Given the description of an element on the screen output the (x, y) to click on. 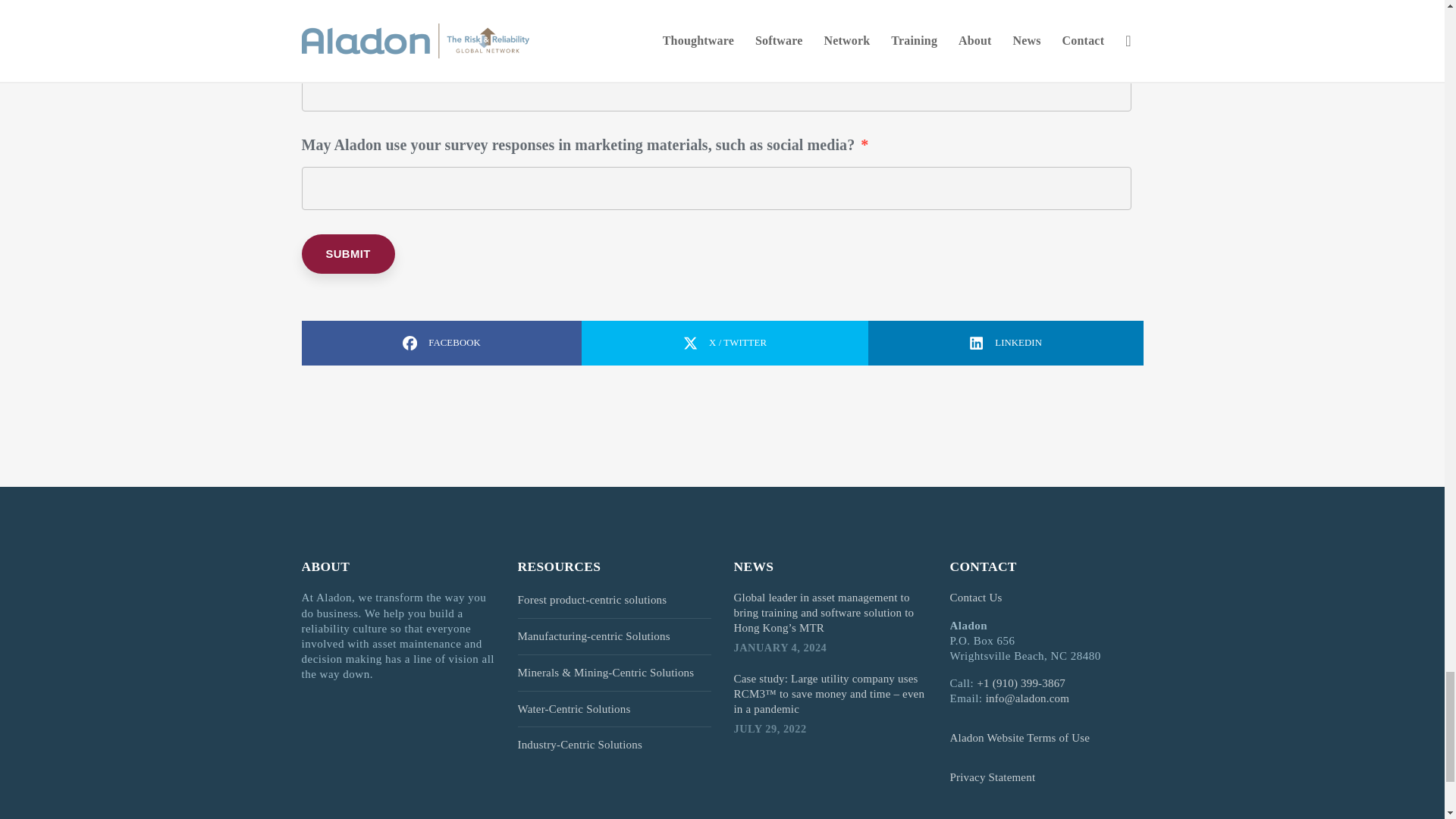
Share page on LinkedIn (1004, 343)
Share page on Facebook (441, 343)
